Given the description of an element on the screen output the (x, y) to click on. 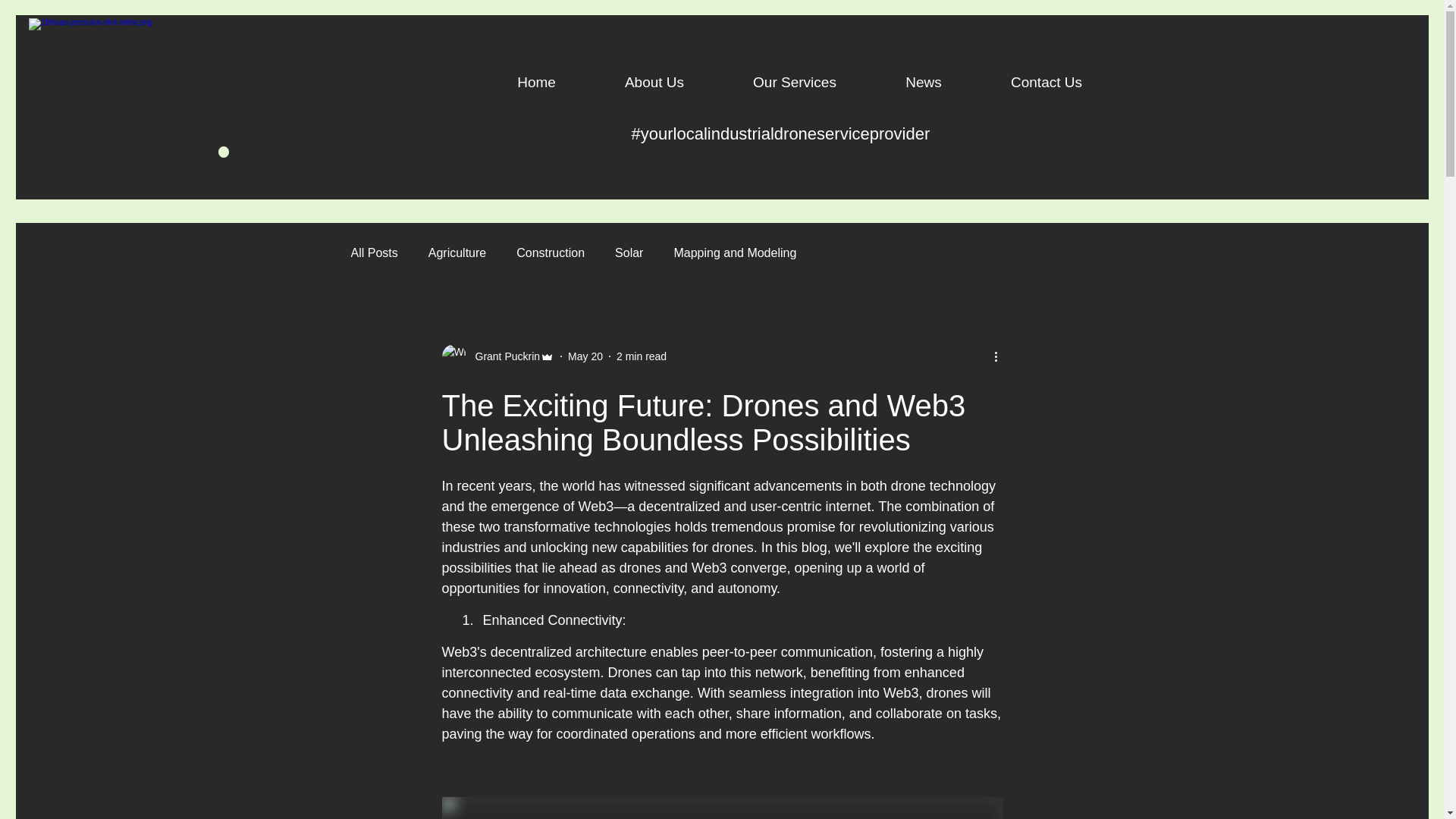
About Us Element type: text (653, 75)
Home Element type: text (535, 75)
All Posts Element type: text (373, 253)
Our Services Element type: text (794, 75)
Mapping and Modeling Element type: text (734, 253)
Agriculture Element type: text (457, 253)
Contact Us Element type: text (1046, 75)
News Element type: text (922, 75)
Construction Element type: text (550, 253)
Solar Element type: text (629, 253)
